Given the description of an element on the screen output the (x, y) to click on. 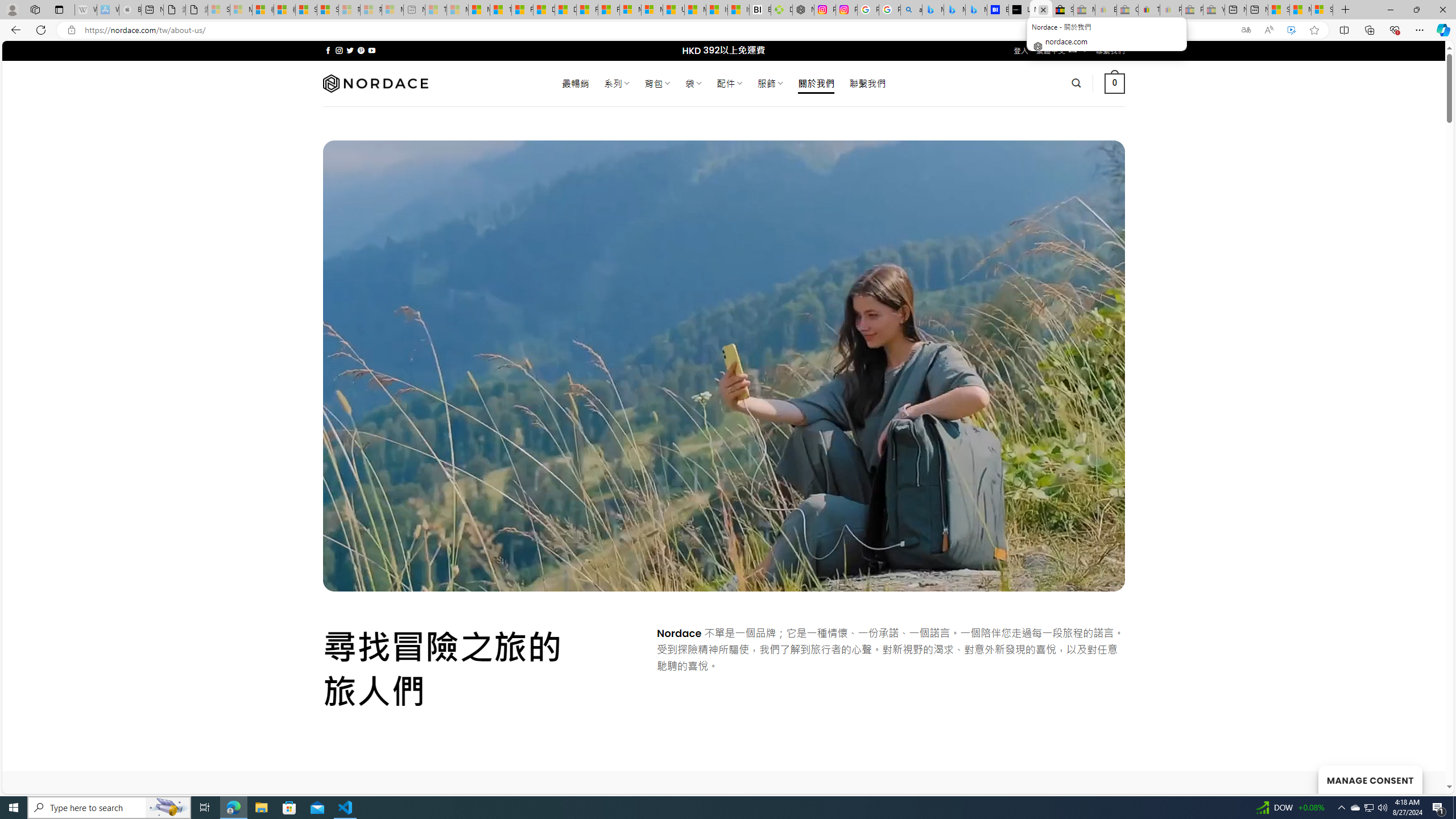
Follow on YouTube (371, 50)
Show translate options (1245, 29)
  0   (1115, 83)
